Given the description of an element on the screen output the (x, y) to click on. 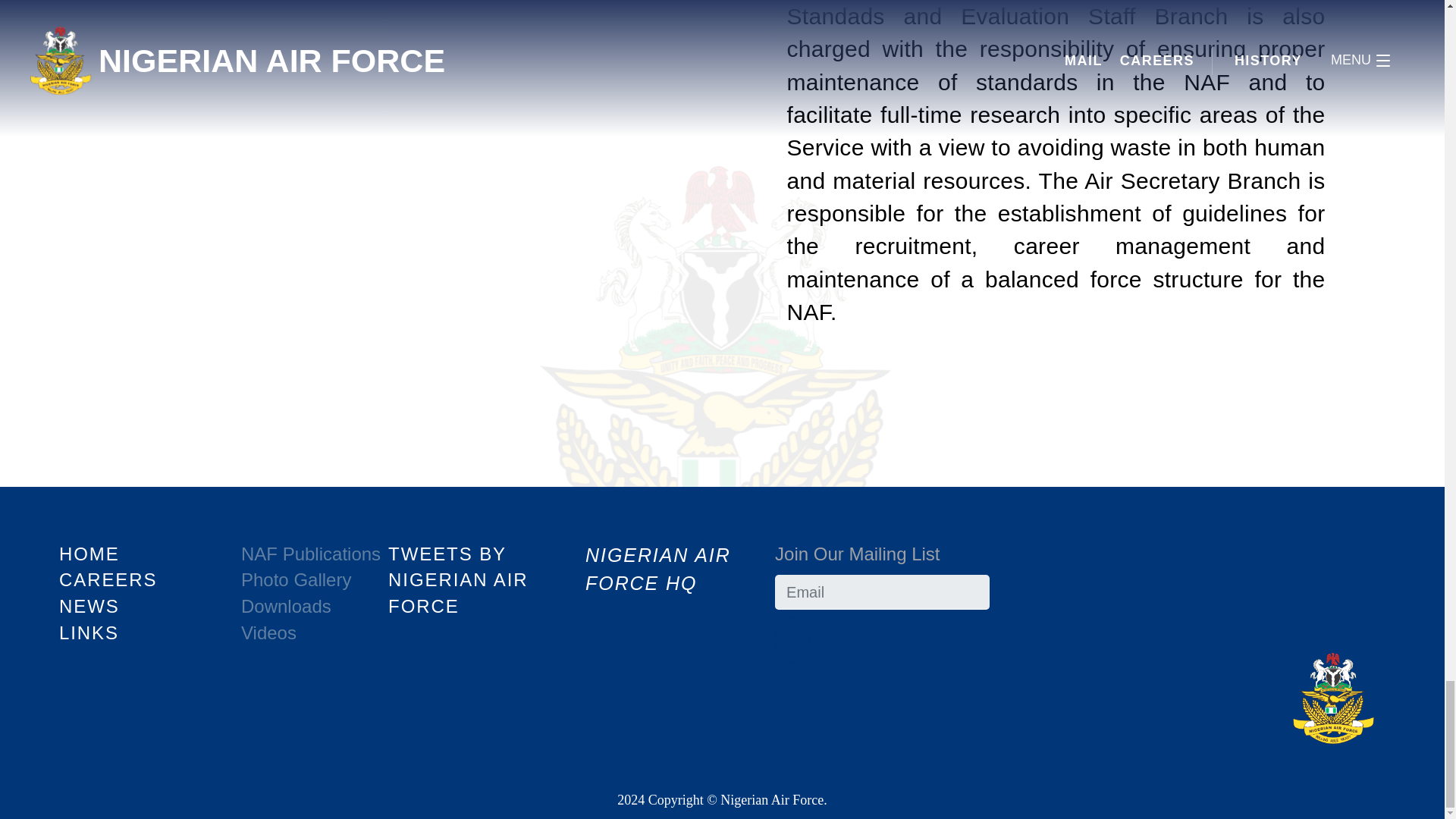
LINKS (89, 631)
NAF Publications (310, 553)
NEWS (89, 606)
CAREERS (108, 579)
Downloads (286, 606)
Photo Gallery (295, 579)
HOME (89, 553)
